Given the description of an element on the screen output the (x, y) to click on. 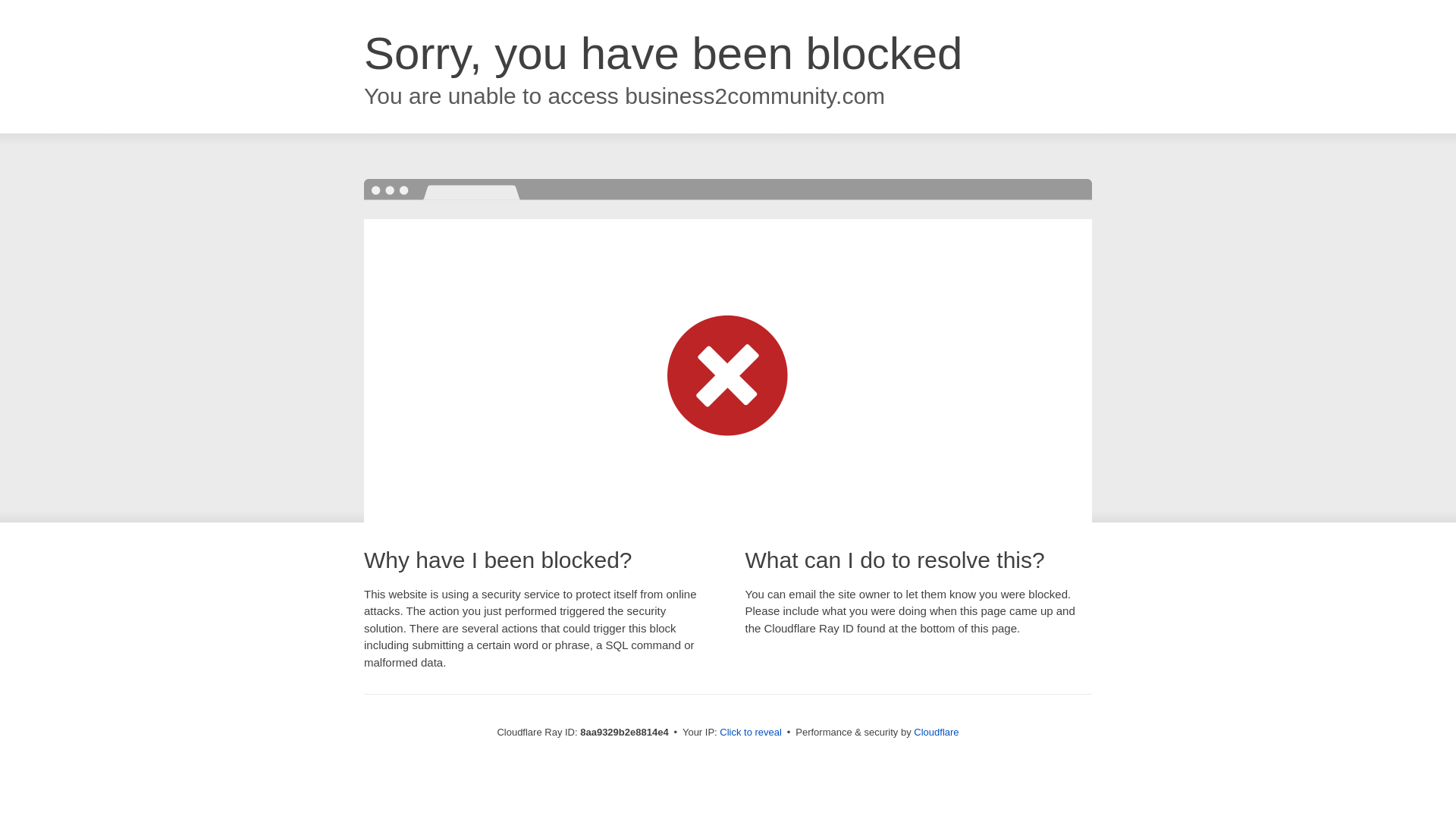
Cloudflare (936, 731)
Click to reveal (750, 732)
